Given the description of an element on the screen output the (x, y) to click on. 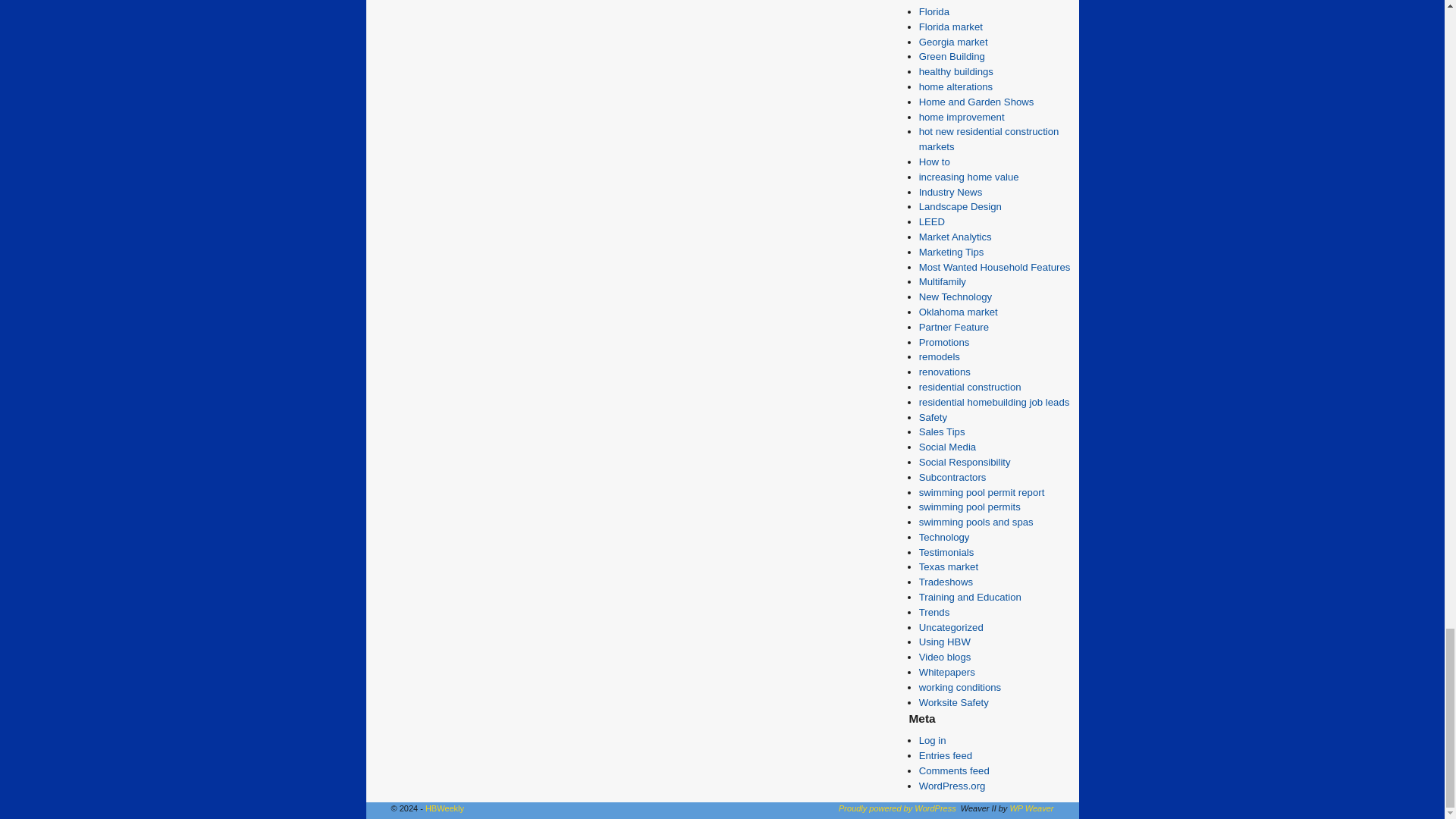
HBWeekly Client Testimonials (946, 552)
wordpress.org (897, 808)
Featured County Reports  (959, 1)
The latest construction and builder industry news  (950, 192)
Trends in Construction and Market Information (934, 612)
HBWeekly (444, 808)
How to use HBWeekly  (944, 641)
